Given the description of an element on the screen output the (x, y) to click on. 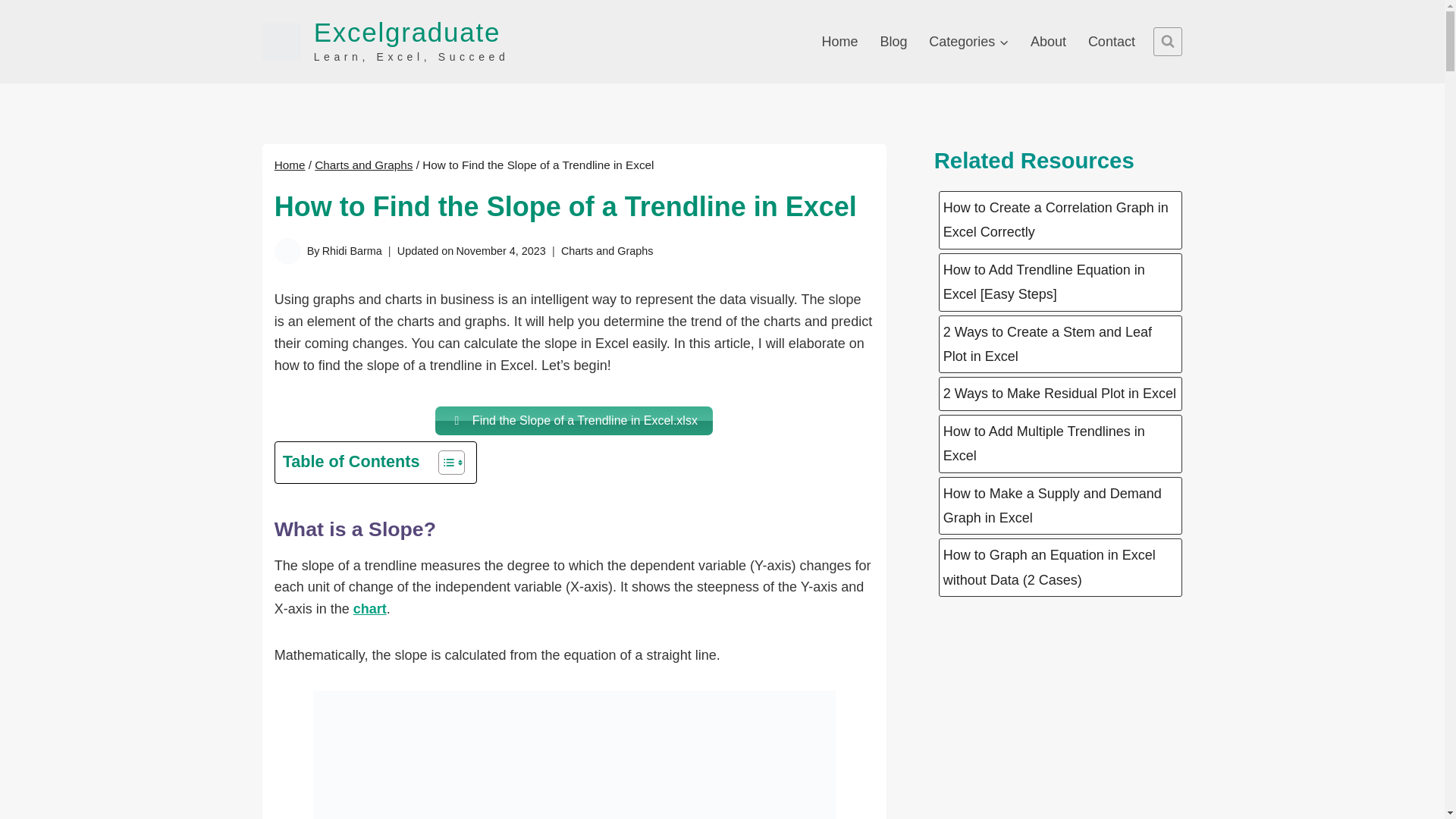
Home (290, 164)
Rhidi Barma (351, 250)
Home (385, 40)
Find the Slope of a Trendline in Excel.xlsx (839, 41)
Contact (574, 420)
Blog (1111, 41)
Charts and Graphs (893, 41)
About (363, 164)
chart (1048, 41)
Categories (370, 608)
Charts and Graphs (969, 41)
